Given the description of an element on the screen output the (x, y) to click on. 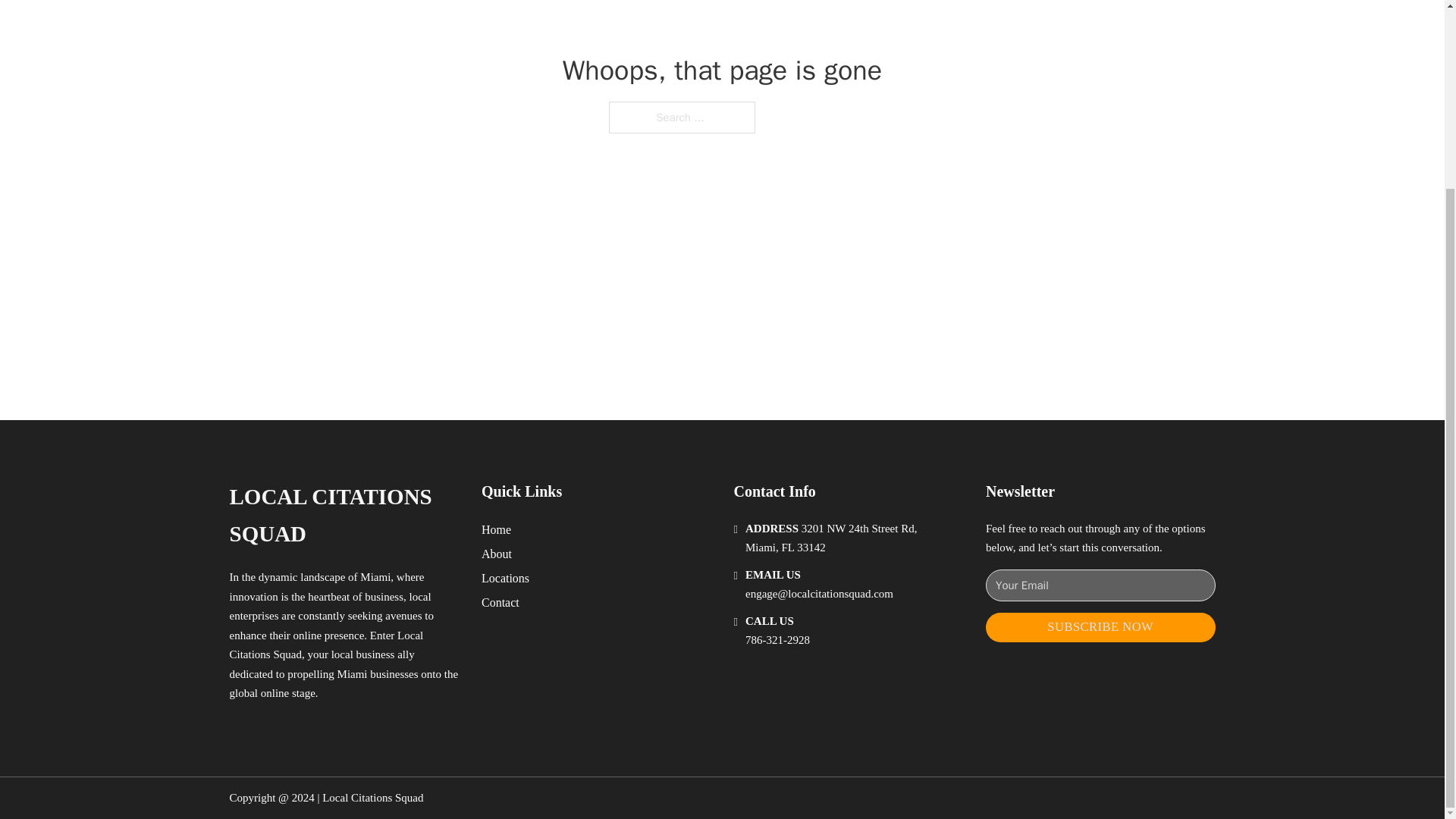
SUBSCRIBE NOW (1100, 627)
Contact (500, 602)
Locations (505, 578)
About (496, 553)
LOCAL CITATIONS SQUAD (343, 515)
Home (496, 529)
786-321-2928 (777, 639)
